Given the description of an element on the screen output the (x, y) to click on. 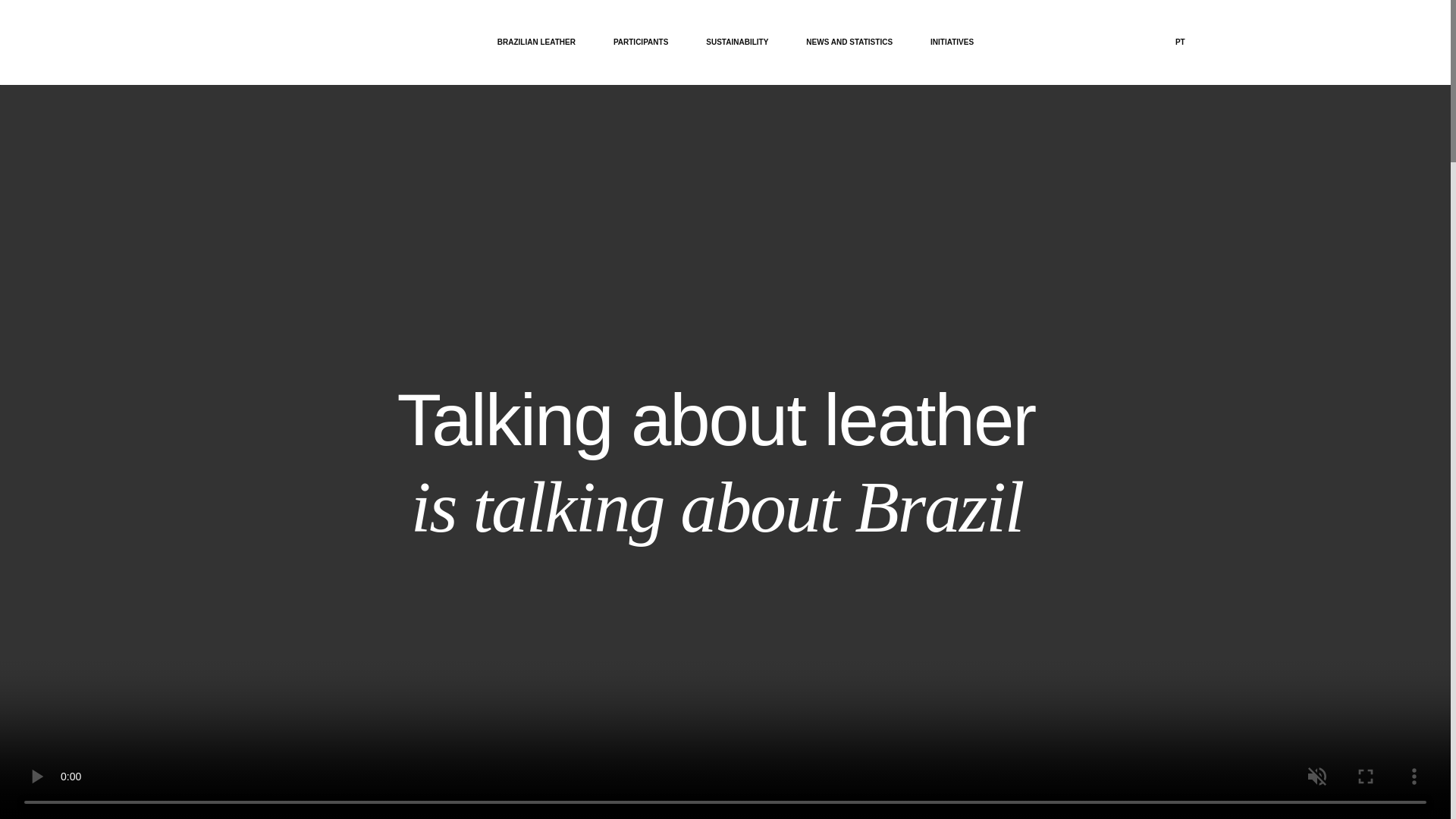
PT (1179, 41)
NEWS AND STATISTICS (849, 42)
PARTICIPANTS (640, 41)
INITIATIVES (952, 42)
SUSTAINABILITY (737, 42)
BRAZILIAN LEATHER (536, 42)
